Given the description of an element on the screen output the (x, y) to click on. 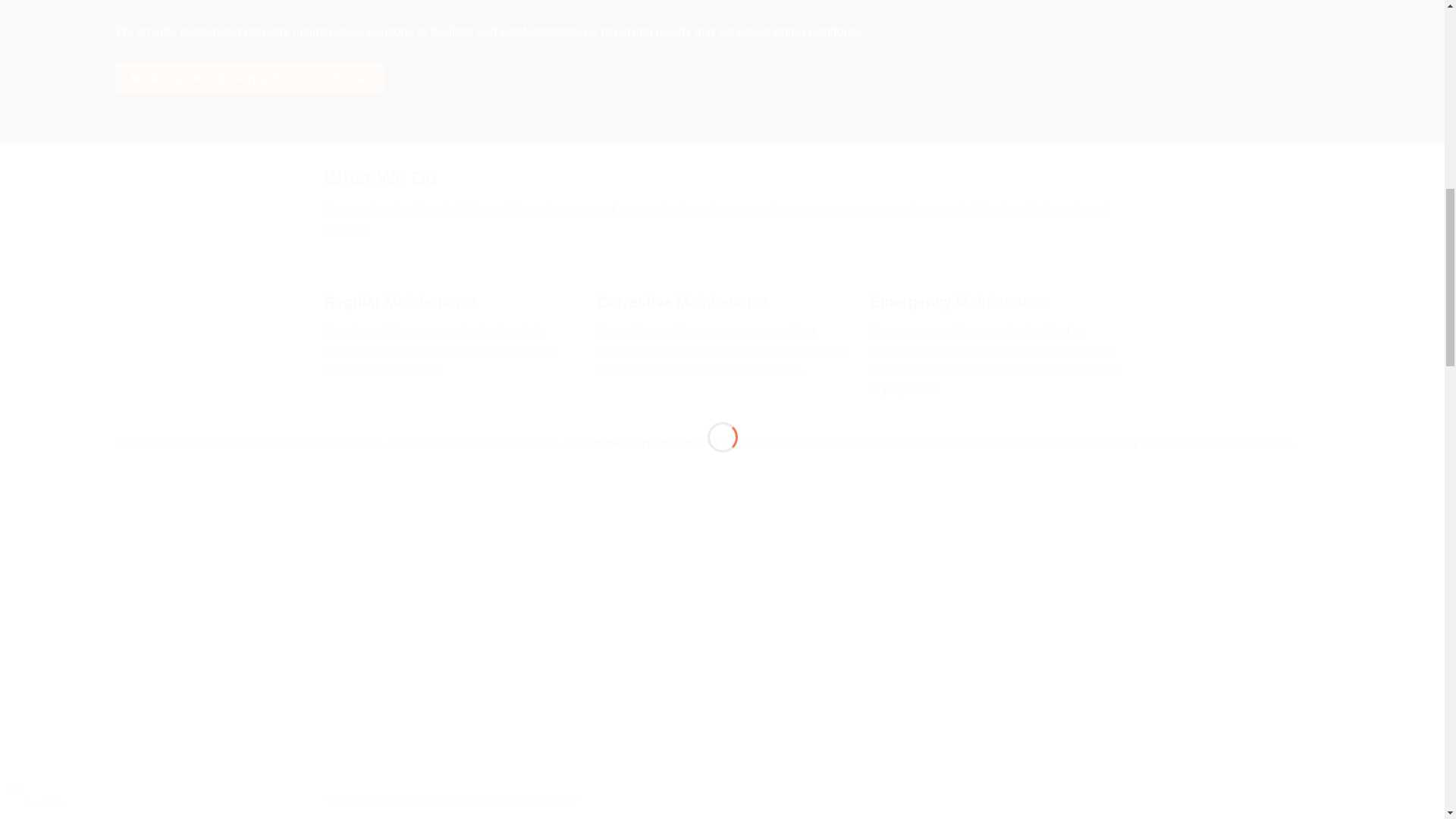
housekeeping services (652, 441)
MORE ABOUT SHARED SOLUTIONS INC (249, 78)
